Given the description of an element on the screen output the (x, y) to click on. 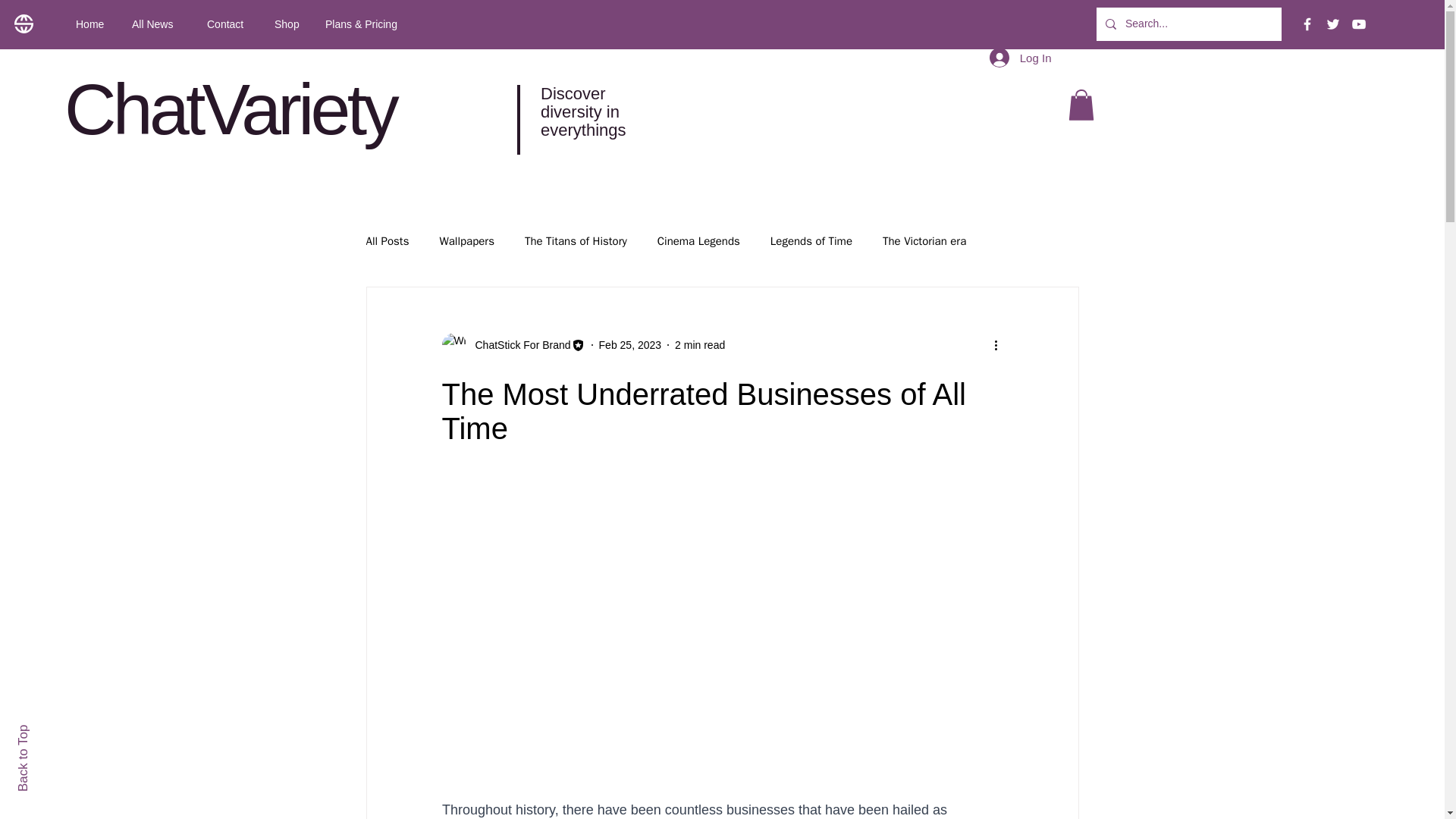
Legends of Time (810, 240)
Feb 25, 2023 (630, 344)
Wallpapers (466, 240)
All News (157, 24)
Home (92, 24)
Shop (288, 24)
All Posts (387, 240)
ChatStick For Brand (517, 344)
Cinema Legends (698, 240)
ChatVariety (230, 108)
